Given the description of an element on the screen output the (x, y) to click on. 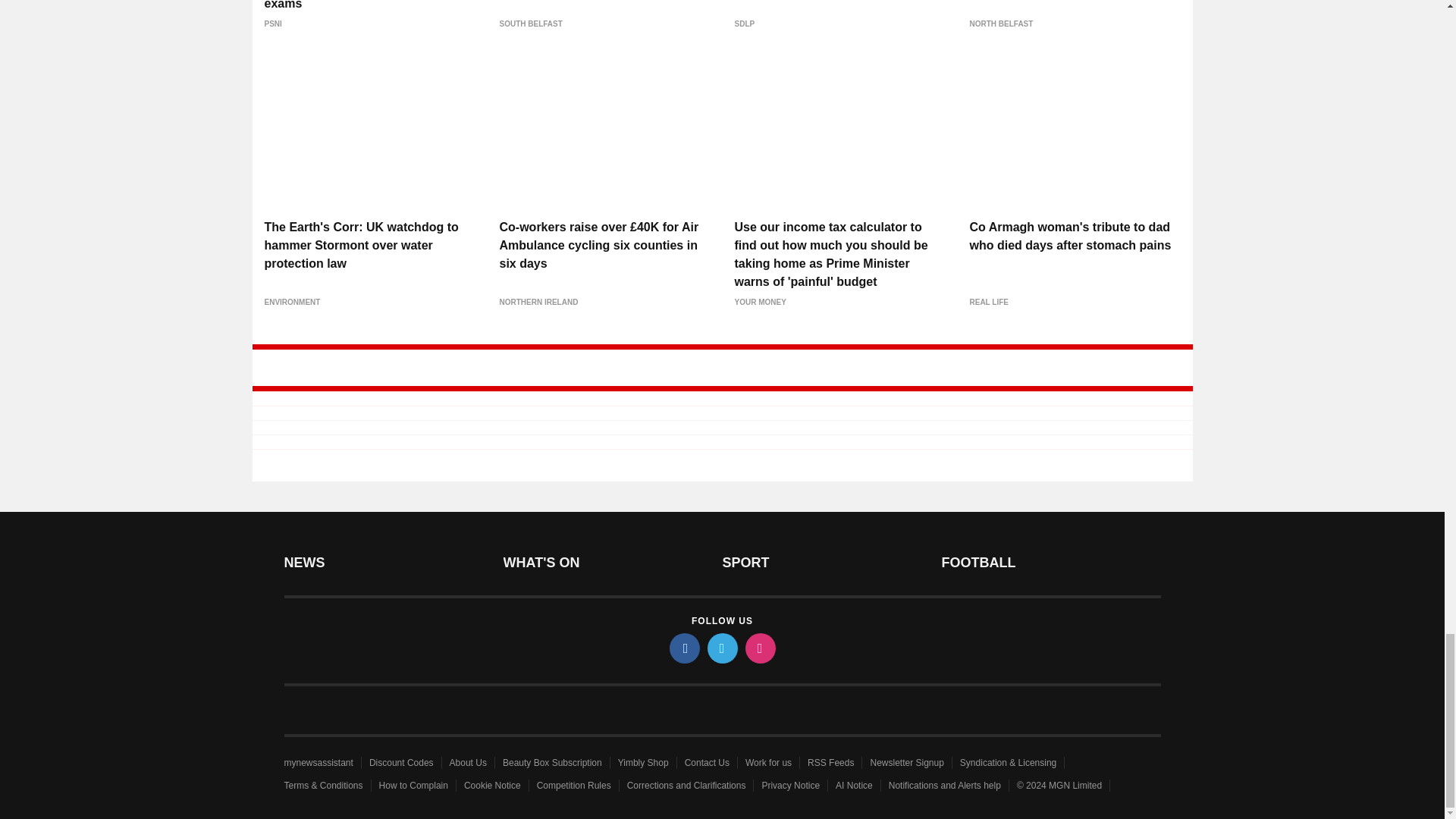
instagram (759, 648)
facebook (683, 648)
twitter (721, 648)
